Given the description of an element on the screen output the (x, y) to click on. 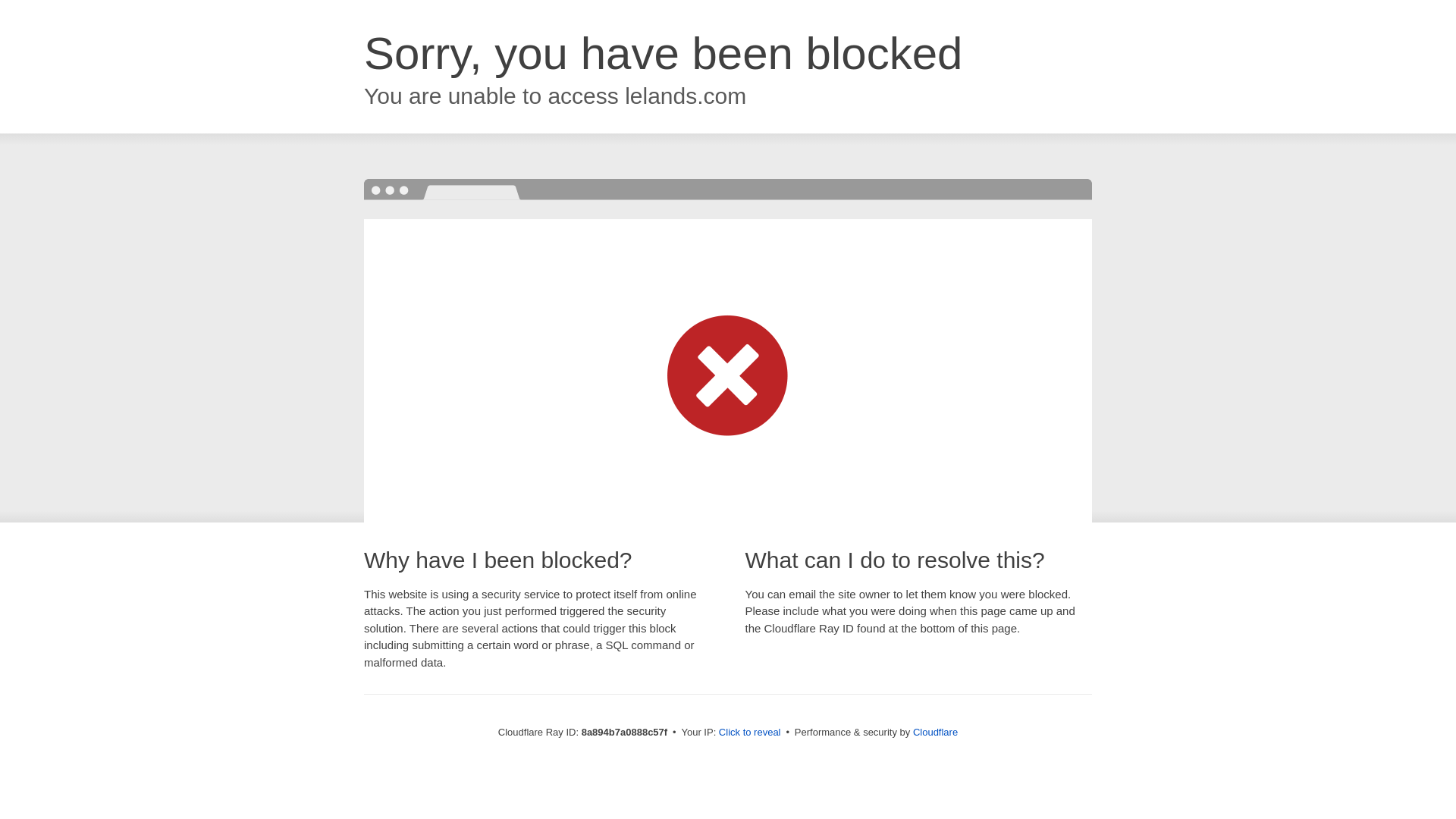
Click to reveal (749, 732)
Cloudflare (935, 731)
